Given the description of an element on the screen output the (x, y) to click on. 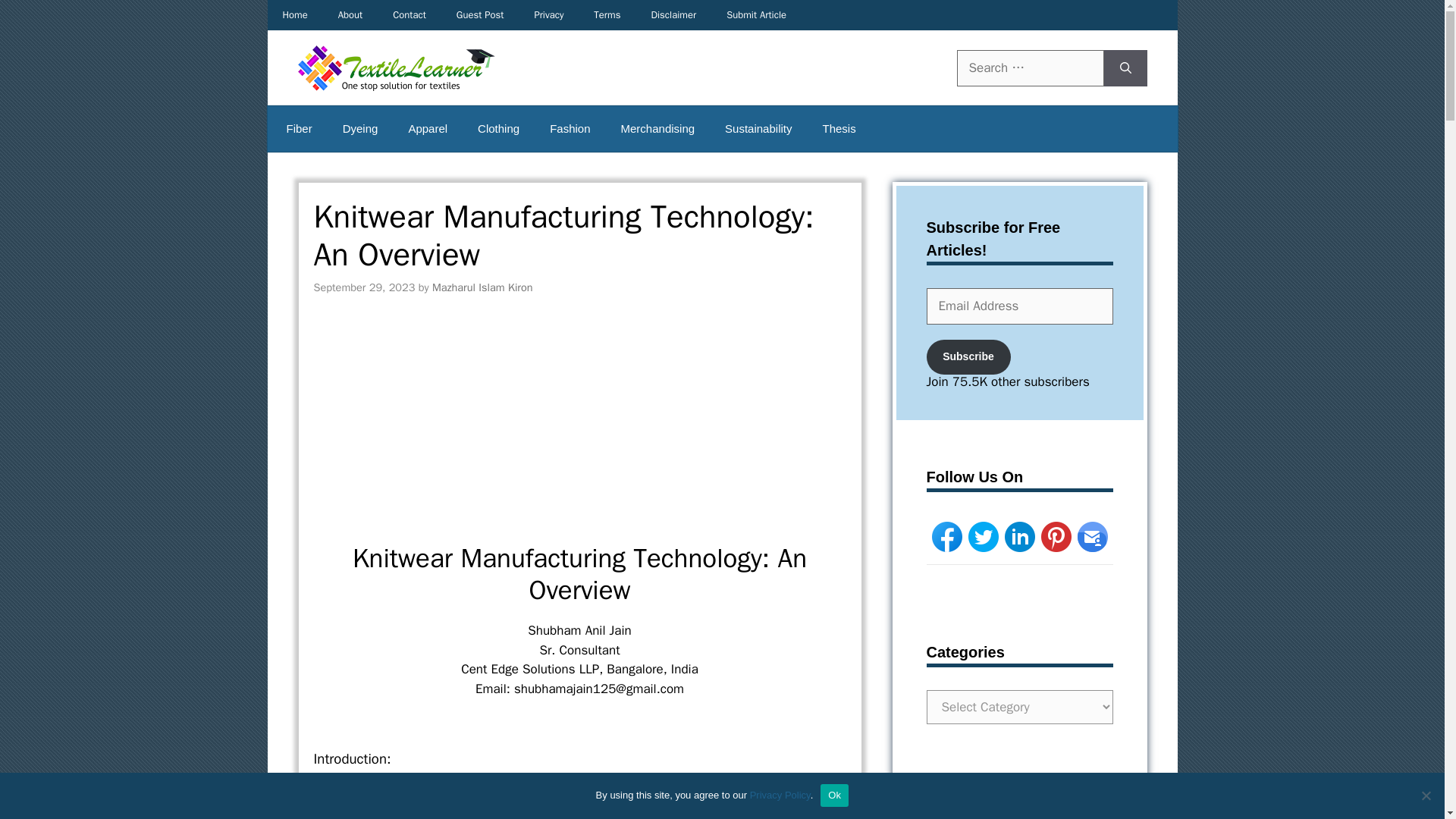
View all posts by Mazharul Islam Kiron (482, 287)
Fiber (298, 128)
Fashion (569, 128)
Privacy (548, 15)
Disclaimer (672, 15)
Clothing (498, 128)
Home (293, 15)
Mazharul Islam Kiron (482, 287)
Thesis (838, 128)
Sustainability (758, 128)
About (350, 15)
Submit Article (756, 15)
Guest Post (480, 15)
Dyeing (360, 128)
Merchandising (657, 128)
